Given the description of an element on the screen output the (x, y) to click on. 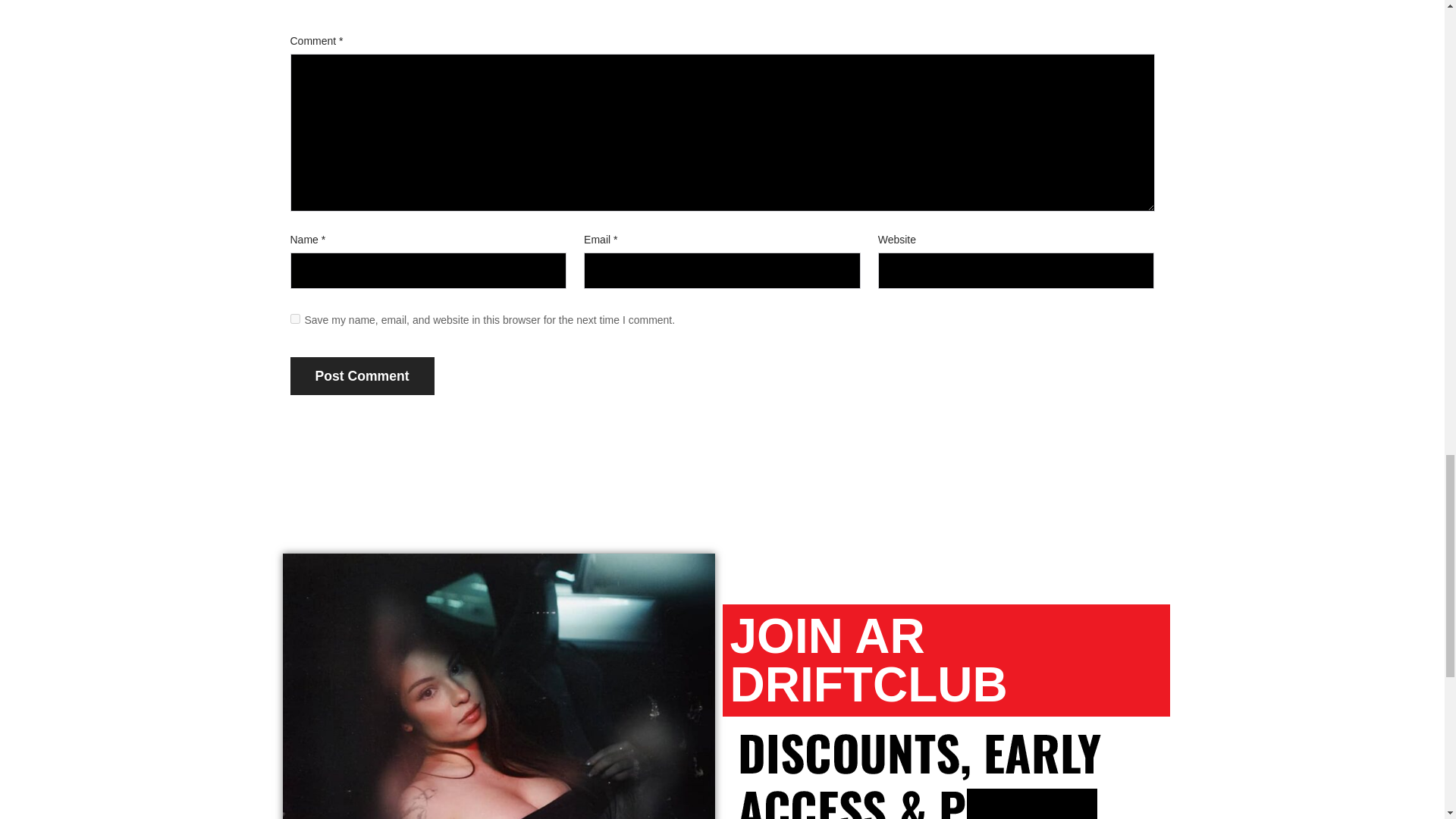
Post Comment (361, 376)
yes (294, 318)
